Given the description of an element on the screen output the (x, y) to click on. 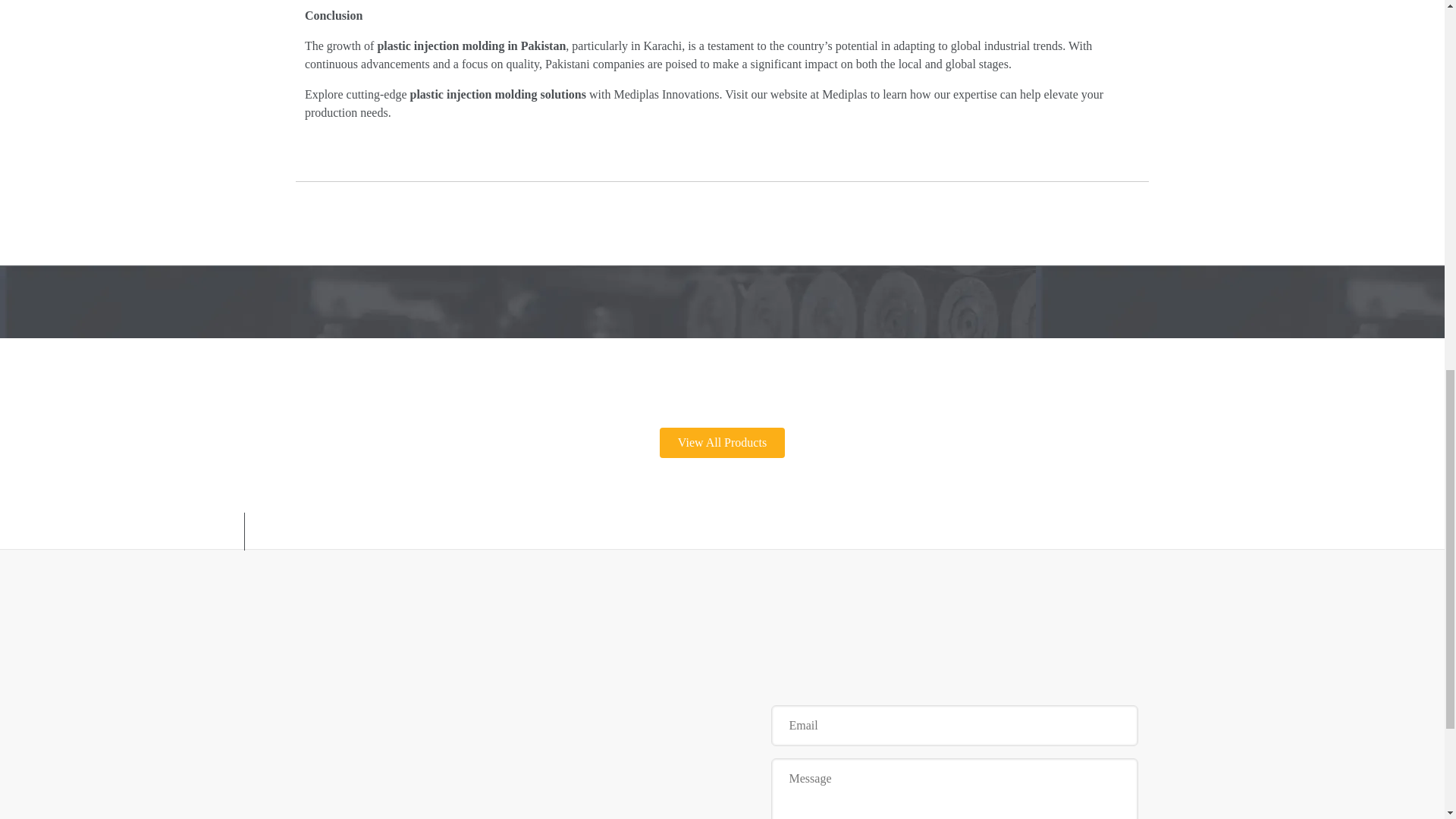
Mediplas (844, 93)
plastic injection molding solutions (497, 93)
View All Products (721, 442)
